Given the description of an element on the screen output the (x, y) to click on. 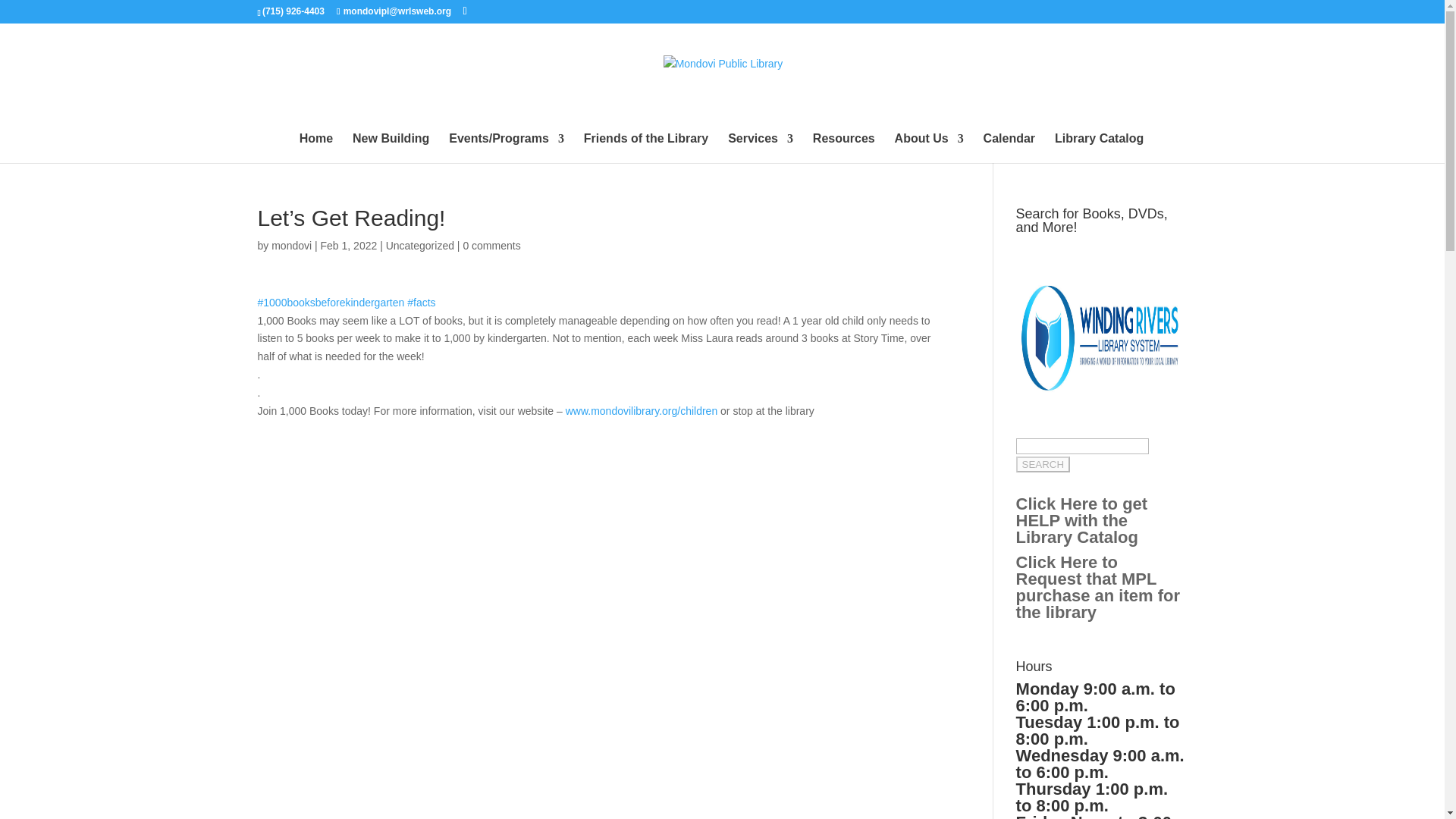
New Building (390, 147)
mondovi (290, 245)
Posts by mondovi (290, 245)
Resources (843, 147)
Friends of the Library (645, 147)
Uncategorized (419, 245)
About Us (929, 147)
Calendar (1009, 147)
Home (316, 147)
